Given the description of an element on the screen output the (x, y) to click on. 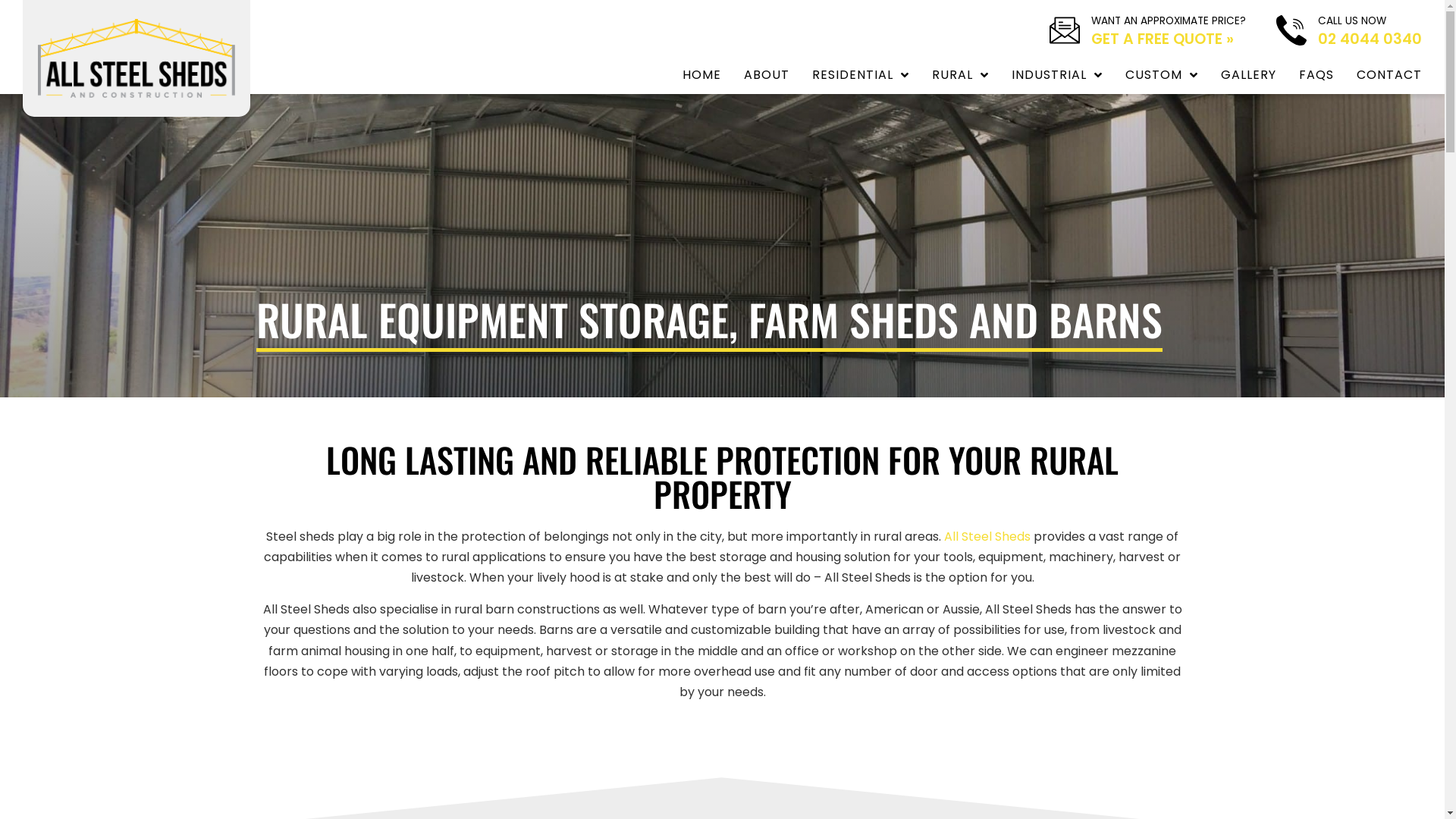
CALL US NOW Element type: text (1351, 20)
RESIDENTIAL Element type: text (860, 75)
02 4044 0340 Element type: text (1369, 38)
GALLERY Element type: text (1248, 75)
WANT AN APPROXIMATE PRICE? Element type: text (1168, 20)
INDUSTRIAL Element type: text (1056, 75)
CUSTOM Element type: text (1161, 75)
CONTACT Element type: text (1388, 75)
FAQS Element type: text (1316, 75)
All Steel Sheds Element type: text (987, 536)
RURAL Element type: text (959, 75)
HOME Element type: text (701, 75)
ABOUT Element type: text (766, 75)
